Given the description of an element on the screen output the (x, y) to click on. 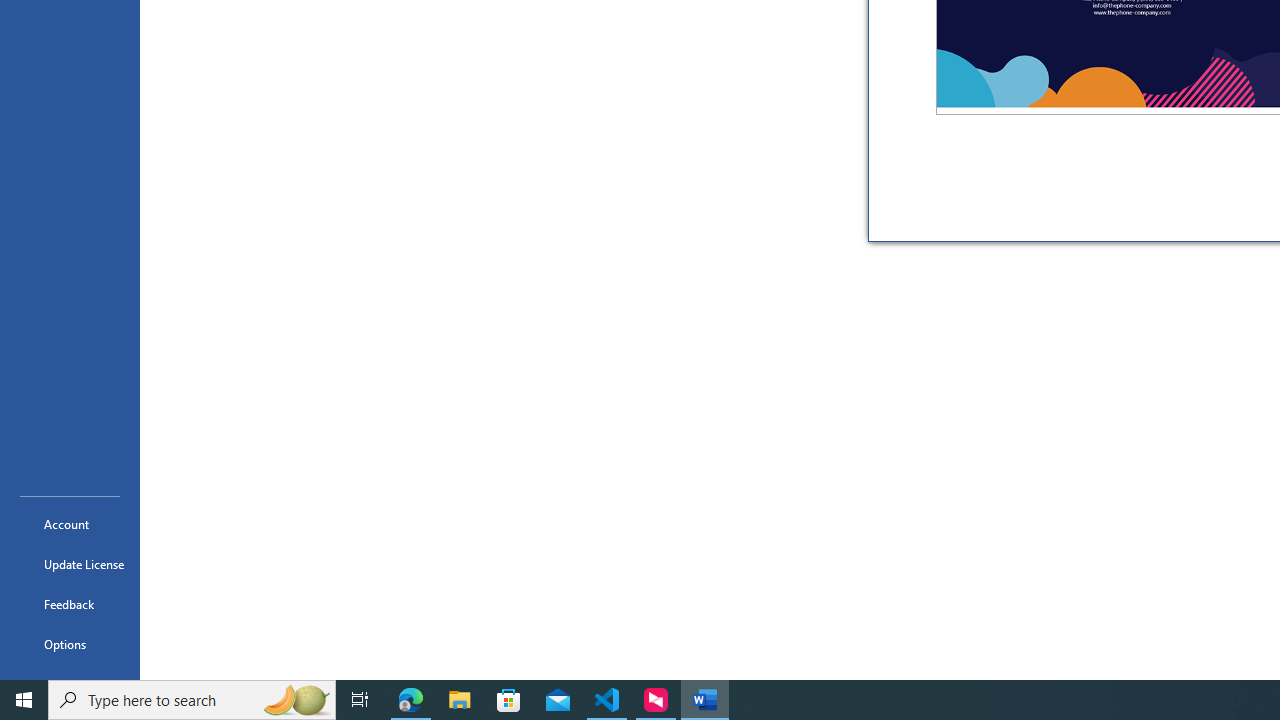
Task View (359, 699)
Options (69, 643)
Visual Studio Code - 1 running window (607, 699)
Feedback (69, 603)
Update License (69, 563)
File Explorer (460, 699)
Word - 1 running window (704, 699)
Microsoft Store (509, 699)
Microsoft Edge - 1 running window (411, 699)
Account (69, 523)
Start (24, 699)
Type here to search (191, 699)
Search highlights icon opens search home window (295, 699)
